Given the description of an element on the screen output the (x, y) to click on. 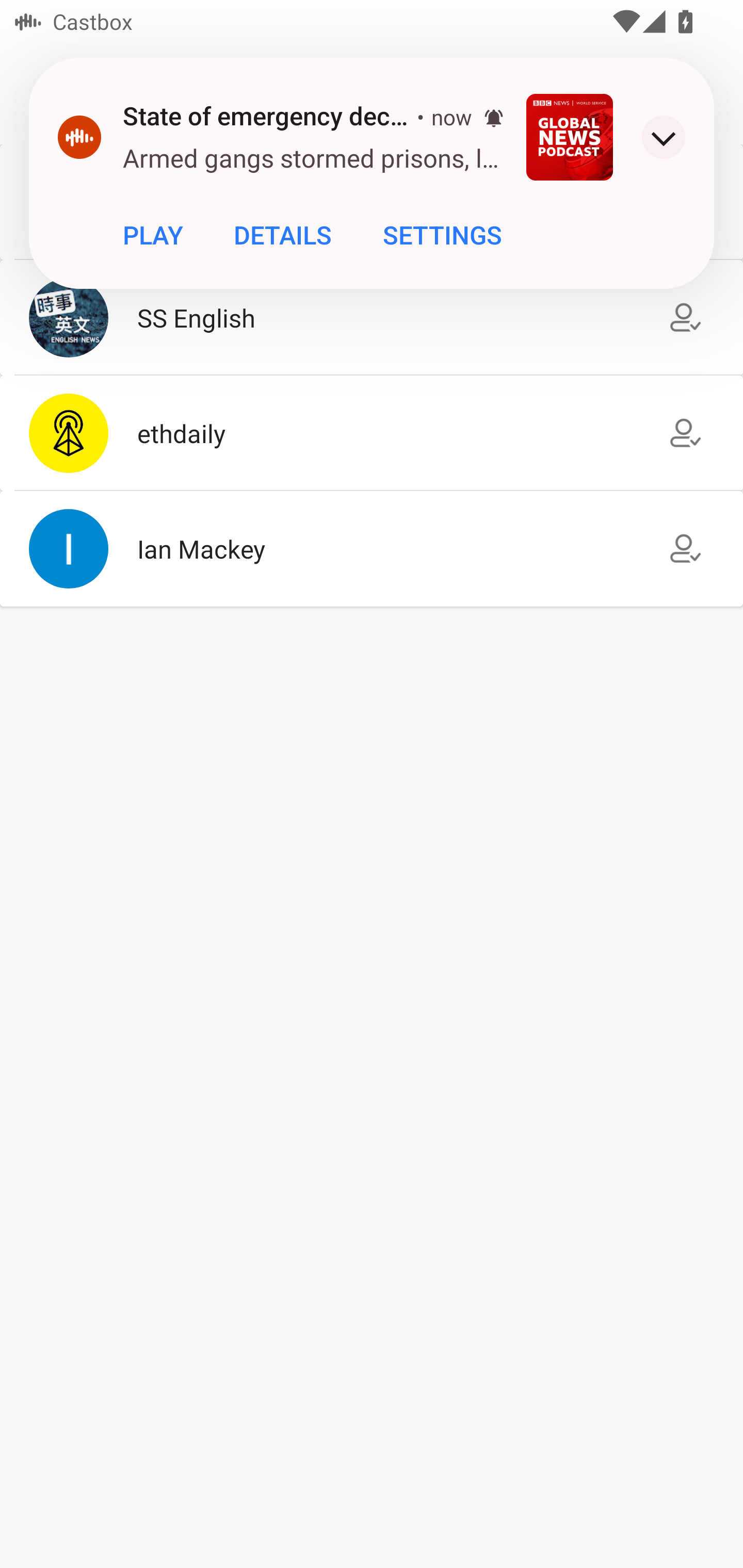
SS English (371, 317)
ethdaily (371, 432)
Ian Mackey (371, 548)
